Given the description of an element on the screen output the (x, y) to click on. 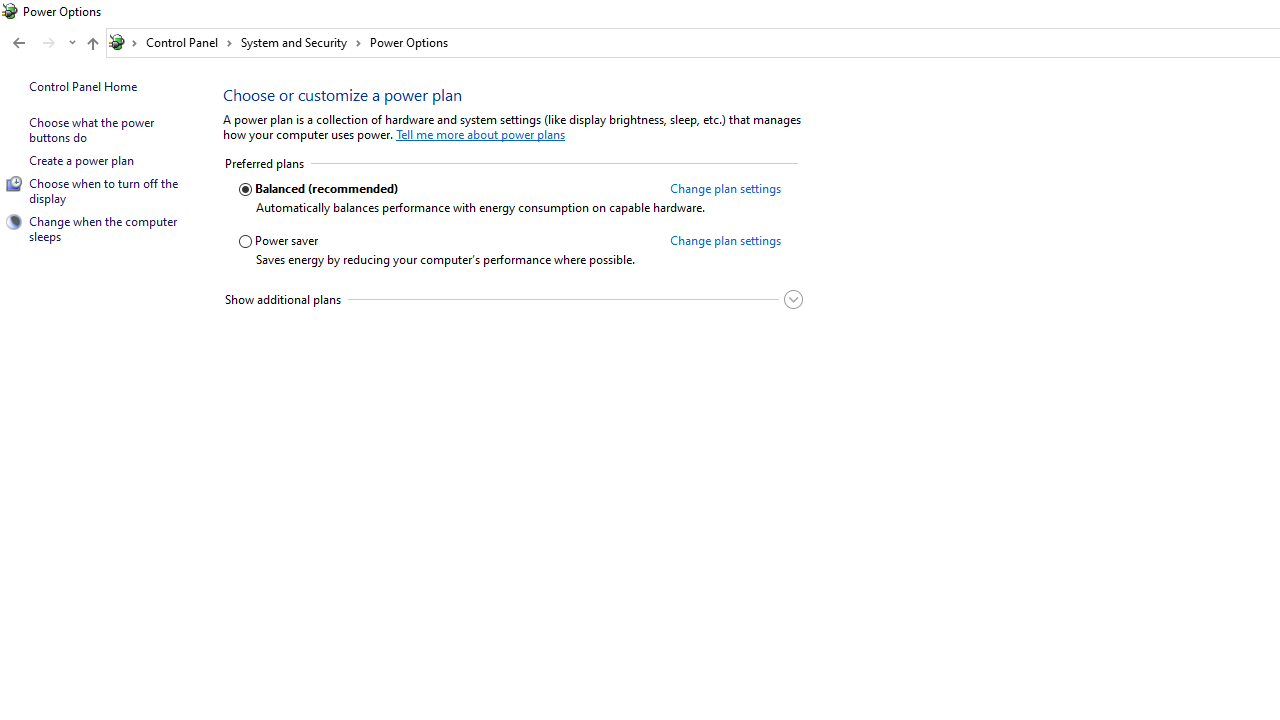
Tell me more about power plans (479, 133)
Change plan settings for the Power saver plan (724, 240)
Create a power plan (80, 159)
System (10, 11)
Forward (Alt + Right Arrow) (49, 43)
Navigation buttons (41, 43)
All locations (124, 42)
System and Security (301, 42)
Recent locations (71, 43)
Power Options (408, 42)
Icon (13, 221)
Control Panel (189, 42)
Up band toolbar (92, 46)
Power saver (447, 241)
